Given the description of an element on the screen output the (x, y) to click on. 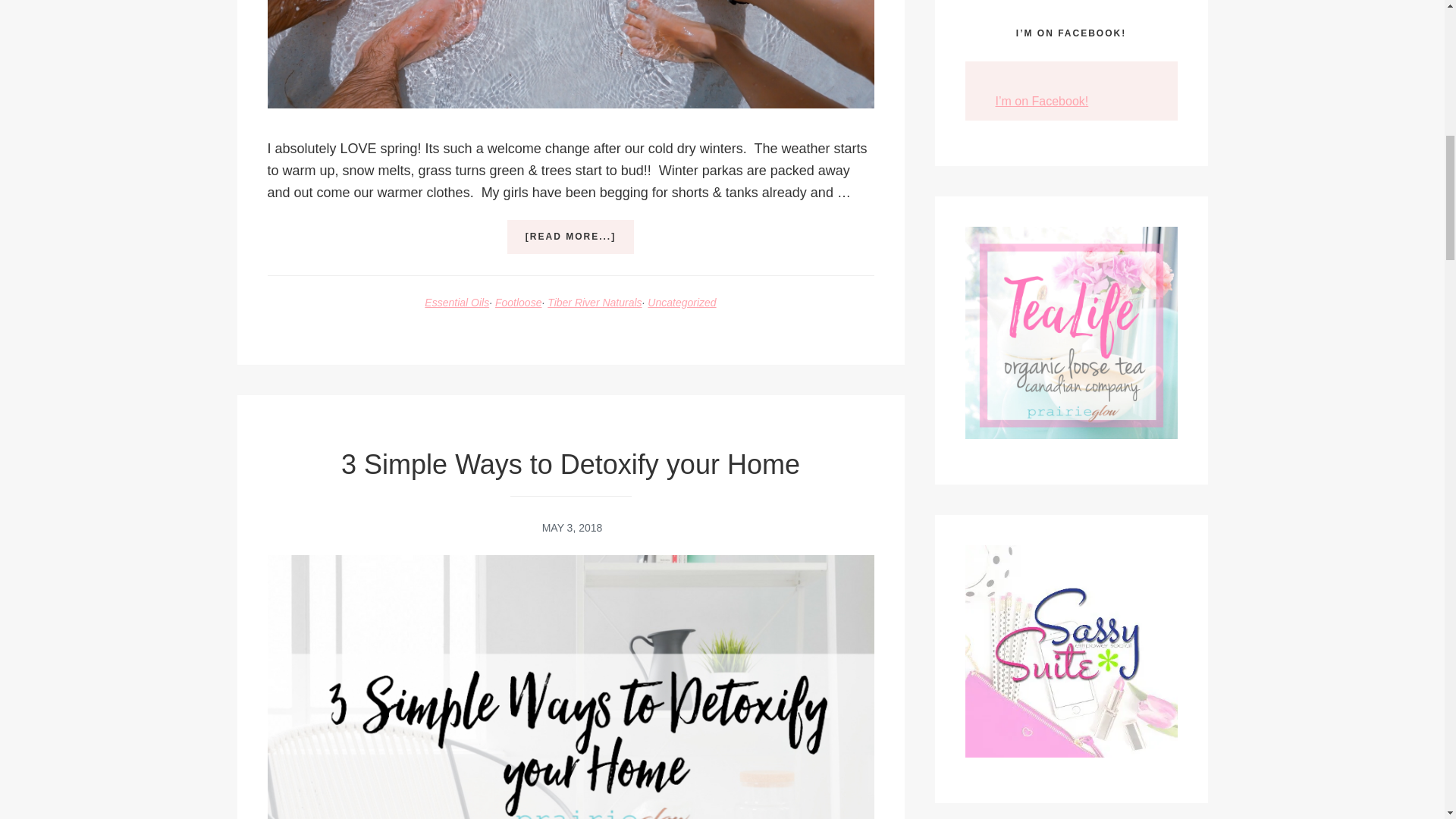
3 Simple Ways to Detoxify your Home (569, 463)
Footloose (518, 302)
Essential Oils (457, 302)
Tiber River Naturals (594, 302)
Uncategorized (681, 302)
